Given the description of an element on the screen output the (x, y) to click on. 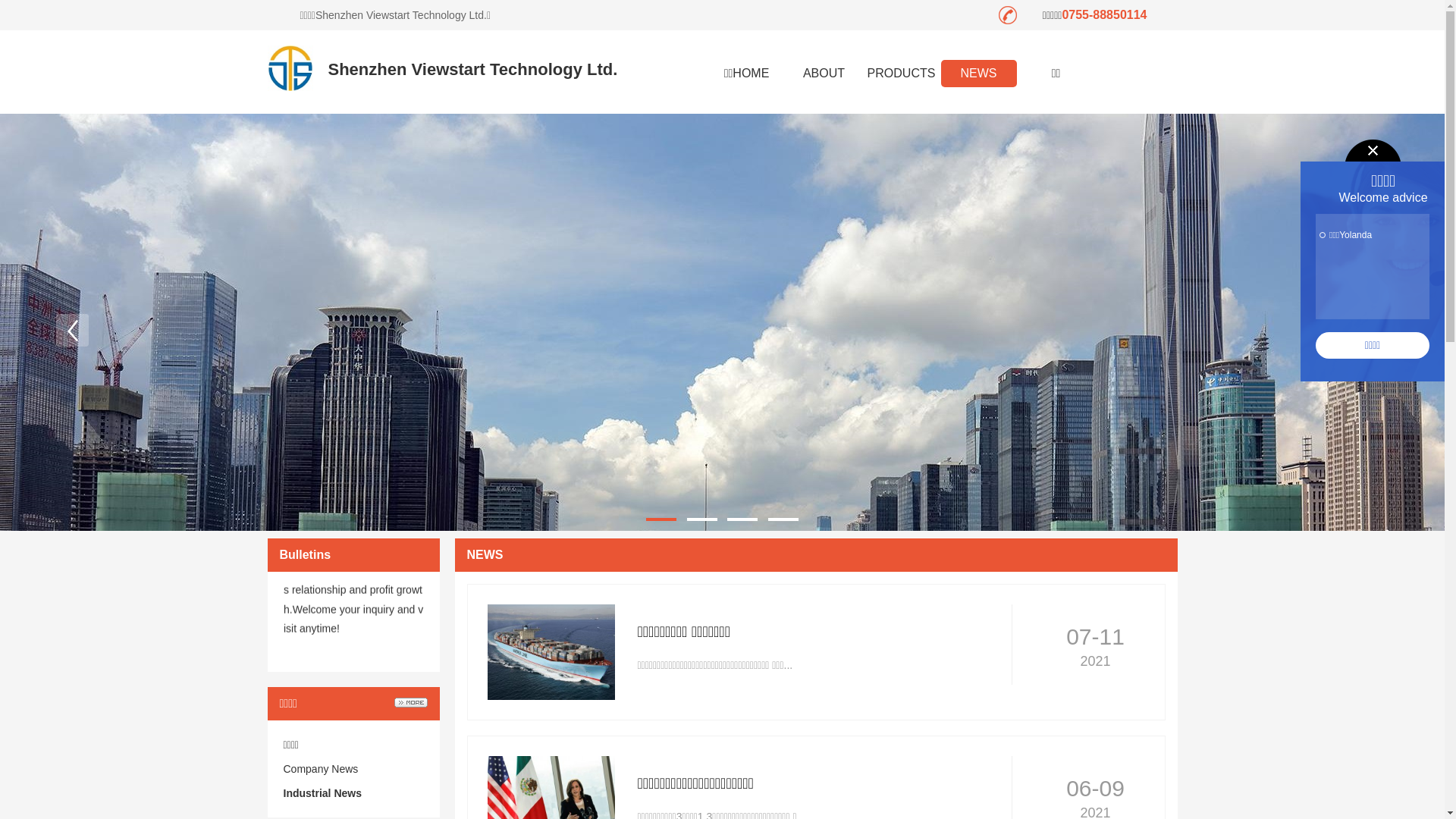
Industrial News Element type: text (322, 793)
NEWS Element type: text (978, 73)
PRODUCTS Element type: text (900, 73)
Shenzhen Viewstart Technology Ltd. Element type: text (472, 68)
ABOUT Element type: text (823, 73)
Company News Element type: text (320, 768)
